Given the description of an element on the screen output the (x, y) to click on. 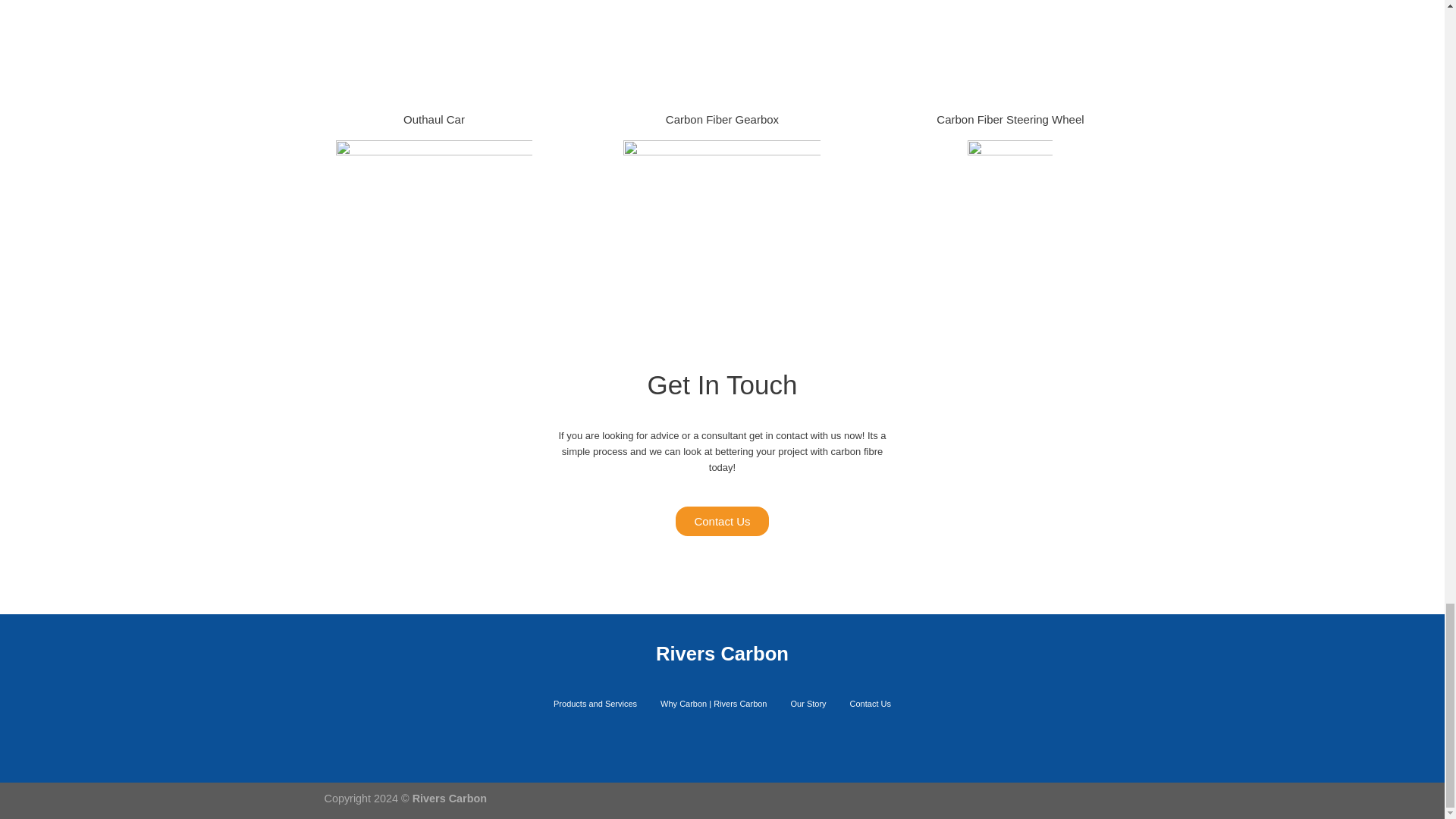
Products and Services (595, 703)
Contact Us (870, 703)
Our Story (807, 703)
Contact Us (721, 521)
